Given the description of an element on the screen output the (x, y) to click on. 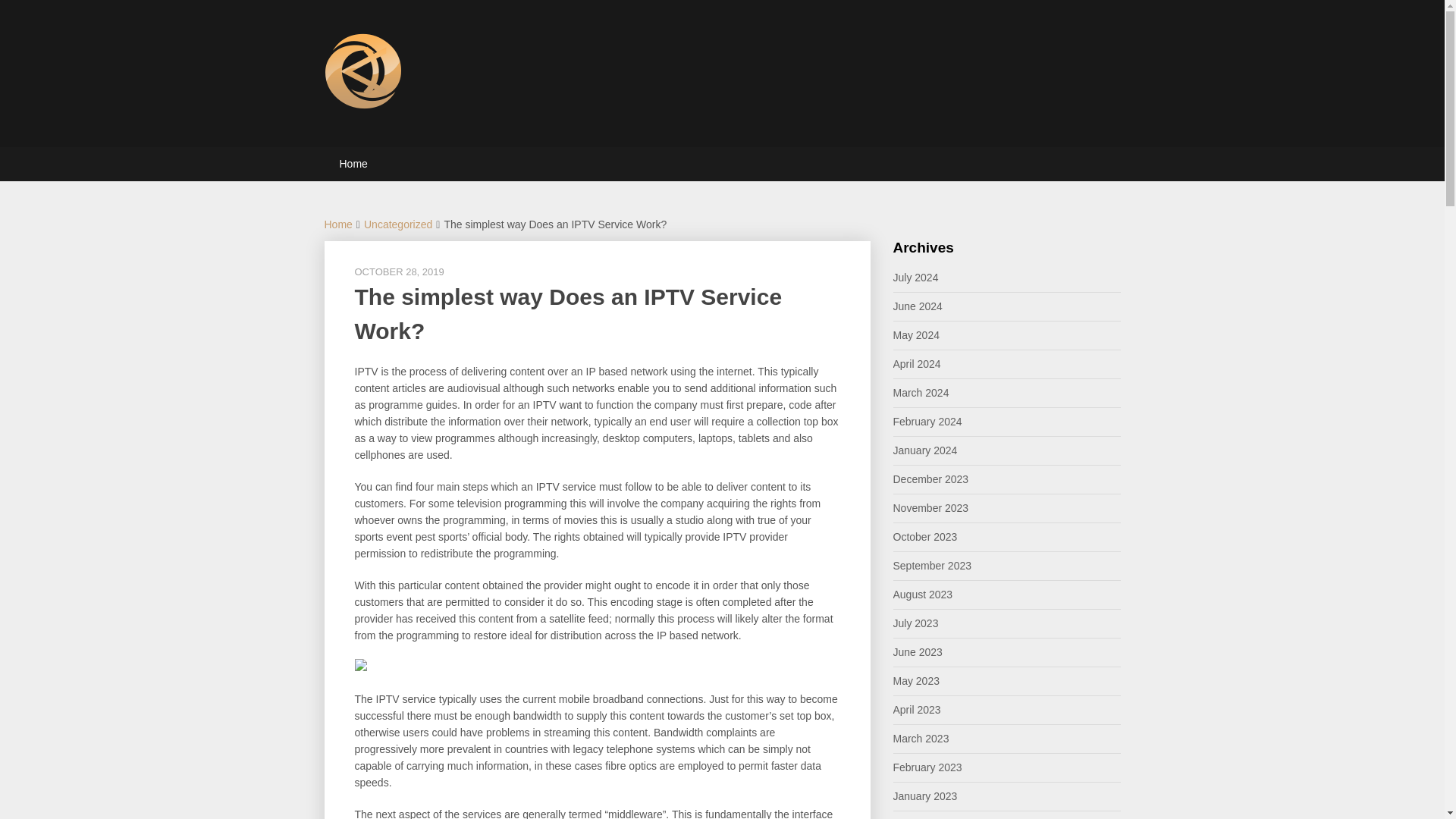
January 2024 (925, 450)
April 2024 (916, 363)
August 2023 (923, 594)
February 2024 (927, 421)
June 2023 (917, 652)
Uncategorized (398, 224)
Home (353, 163)
April 2023 (916, 709)
November 2023 (931, 508)
July 2024 (916, 277)
July 2023 (916, 623)
June 2024 (917, 306)
May 2024 (916, 335)
Home (338, 224)
